Given the description of an element on the screen output the (x, y) to click on. 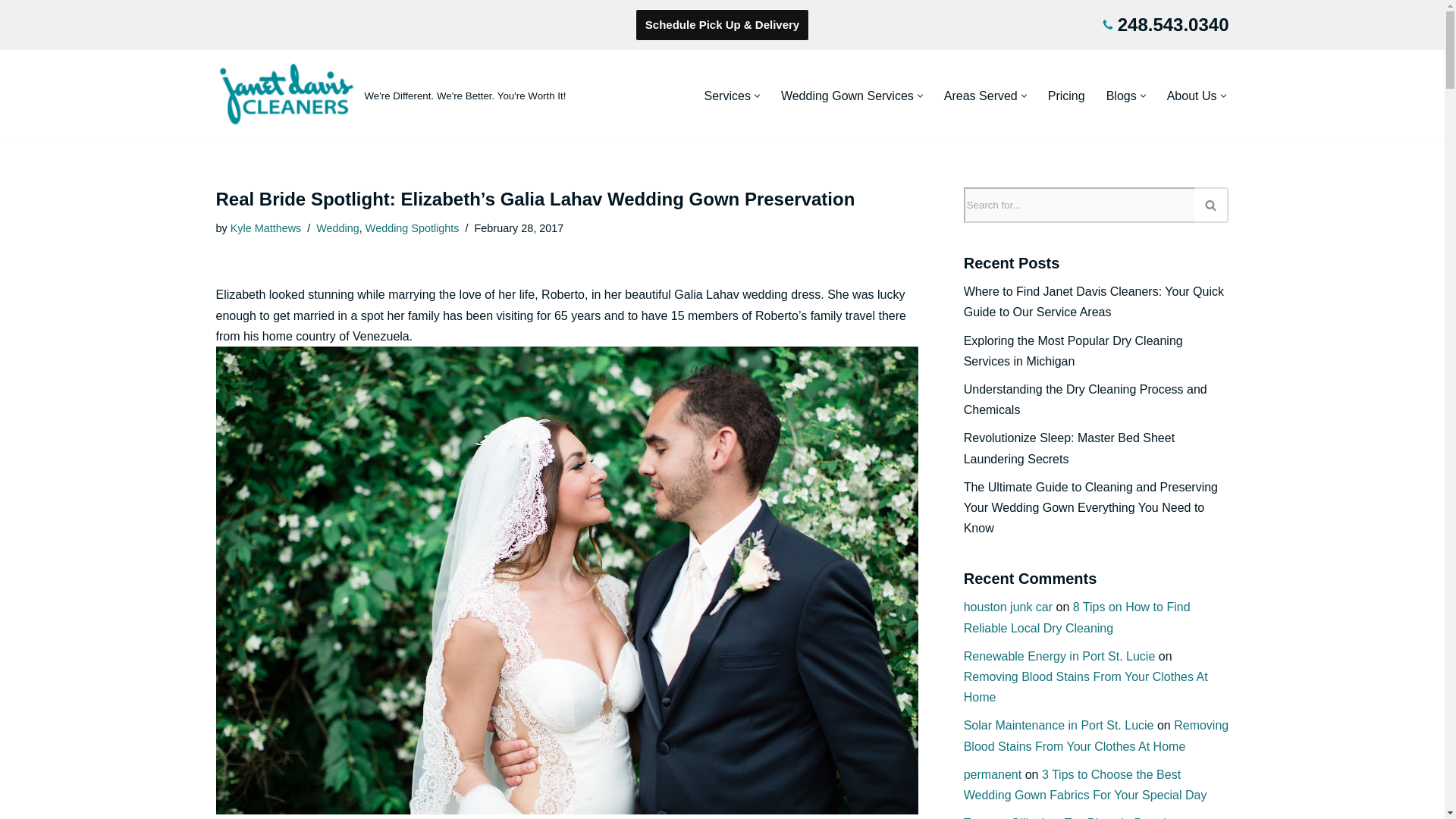
Areas Served (980, 95)
Services (727, 95)
About Us (1192, 95)
Blogs (1121, 95)
Posts by Kyle Matthews (265, 227)
cropped-janetdavislogo-1.png - Janet Davis Dry Cleaners (285, 95)
Pricing (1066, 95)
248.543.0340 (1173, 24)
Wedding Gown Services (847, 95)
Skip to content (11, 31)
We're Different. We're Better. You're Worth It! (390, 95)
